Given the description of an element on the screen output the (x, y) to click on. 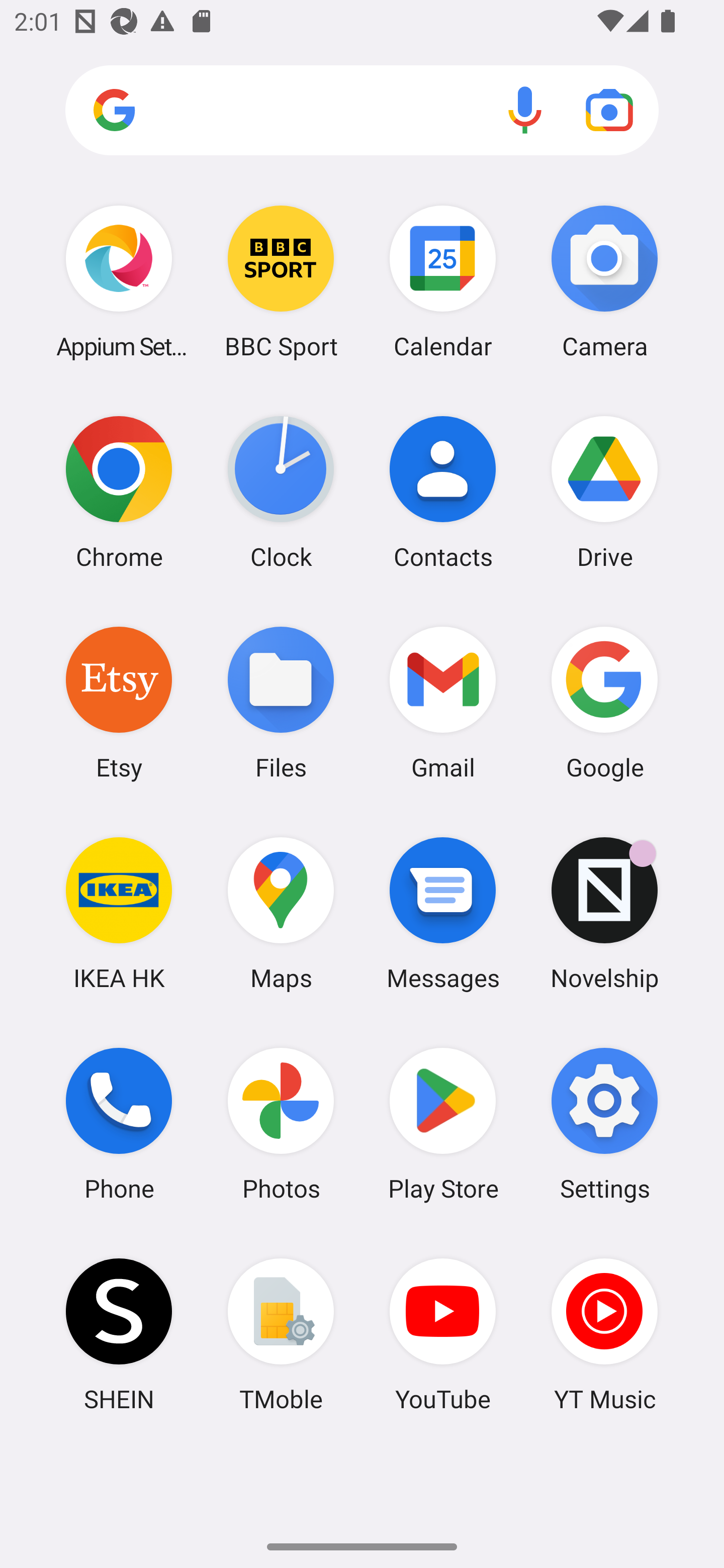
Search apps, web and more (361, 110)
Voice search (524, 109)
Google Lens (608, 109)
Appium Settings (118, 281)
BBC Sport (280, 281)
Calendar (443, 281)
Camera (604, 281)
Chrome (118, 492)
Clock (280, 492)
Contacts (443, 492)
Drive (604, 492)
Etsy (118, 702)
Files (280, 702)
Gmail (443, 702)
Google (604, 702)
IKEA HK (118, 913)
Maps (280, 913)
Messages (443, 913)
Novelship Novelship has 9 notifications (604, 913)
Phone (118, 1124)
Photos (280, 1124)
Play Store (443, 1124)
Settings (604, 1124)
SHEIN (118, 1334)
TMoble (280, 1334)
YouTube (443, 1334)
YT Music (604, 1334)
